Given the description of an element on the screen output the (x, y) to click on. 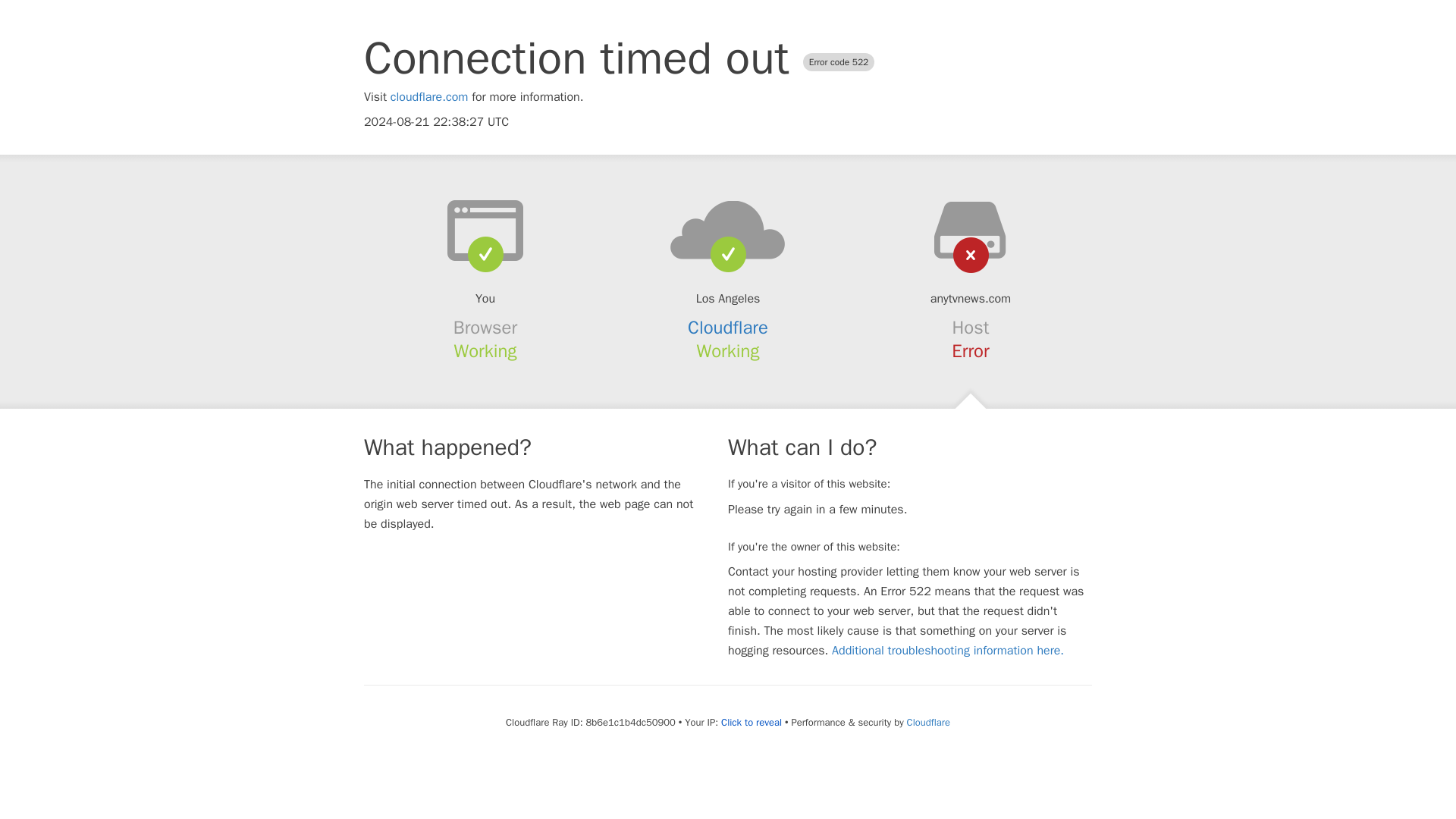
cloudflare.com (429, 96)
Additional troubleshooting information here. (947, 650)
Cloudflare (928, 721)
Cloudflare (727, 327)
Click to reveal (750, 722)
